Given the description of an element on the screen output the (x, y) to click on. 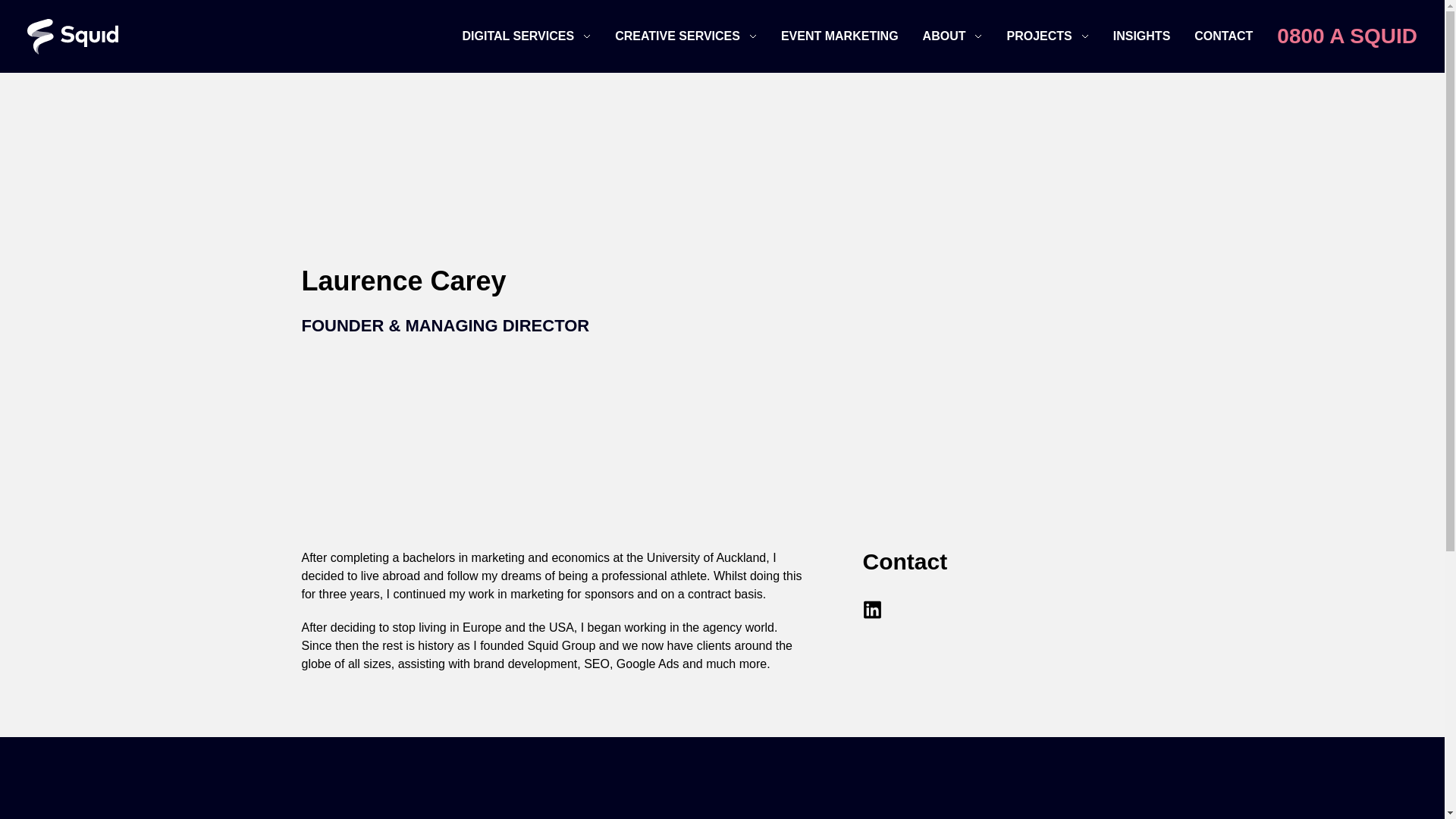
DIGITAL SERVICES (519, 36)
Squid Group (72, 36)
CREATIVE SERVICES (676, 36)
